Given the description of an element on the screen output the (x, y) to click on. 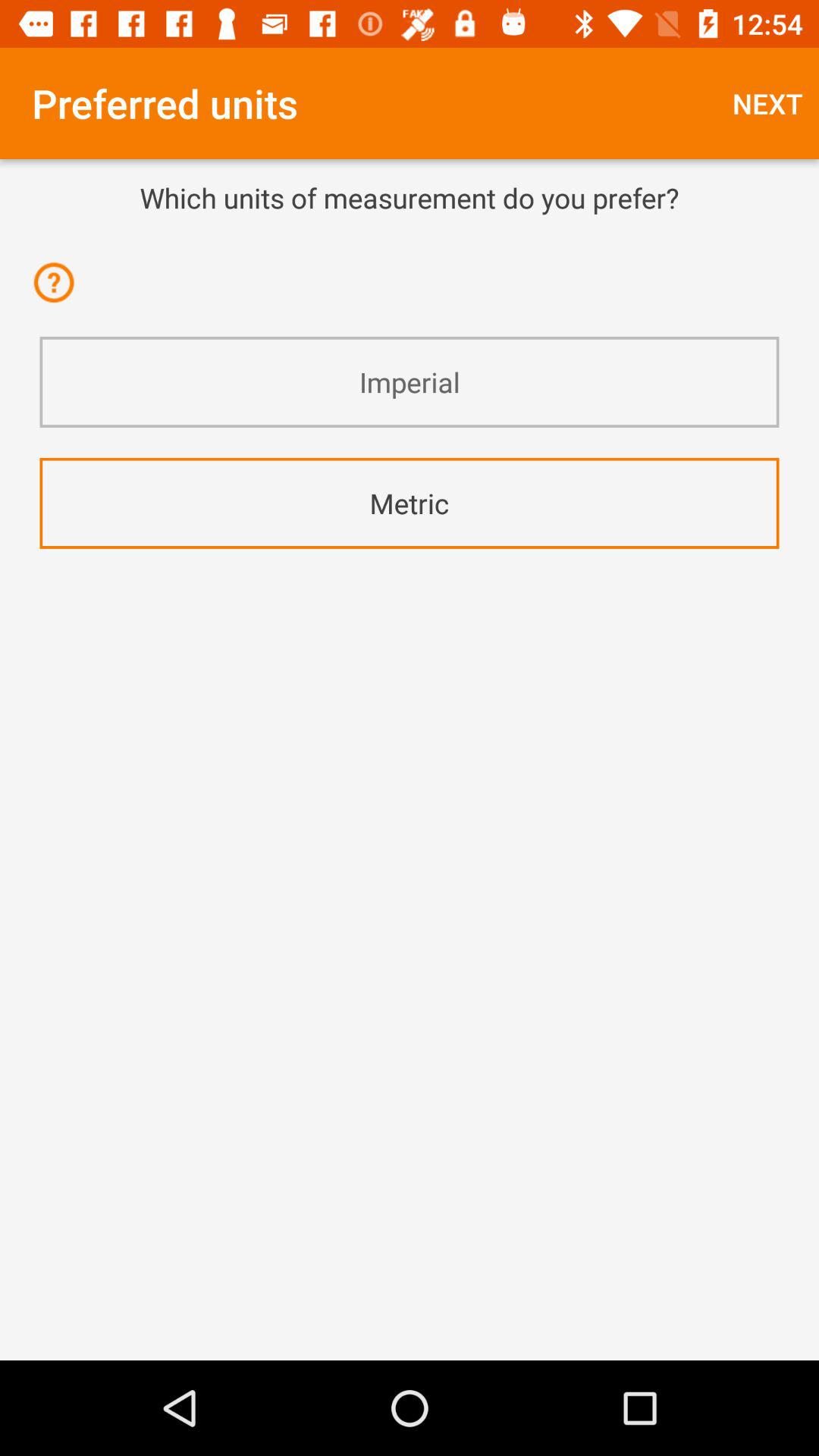
turn on icon above the imperial item (58, 292)
